Given the description of an element on the screen output the (x, y) to click on. 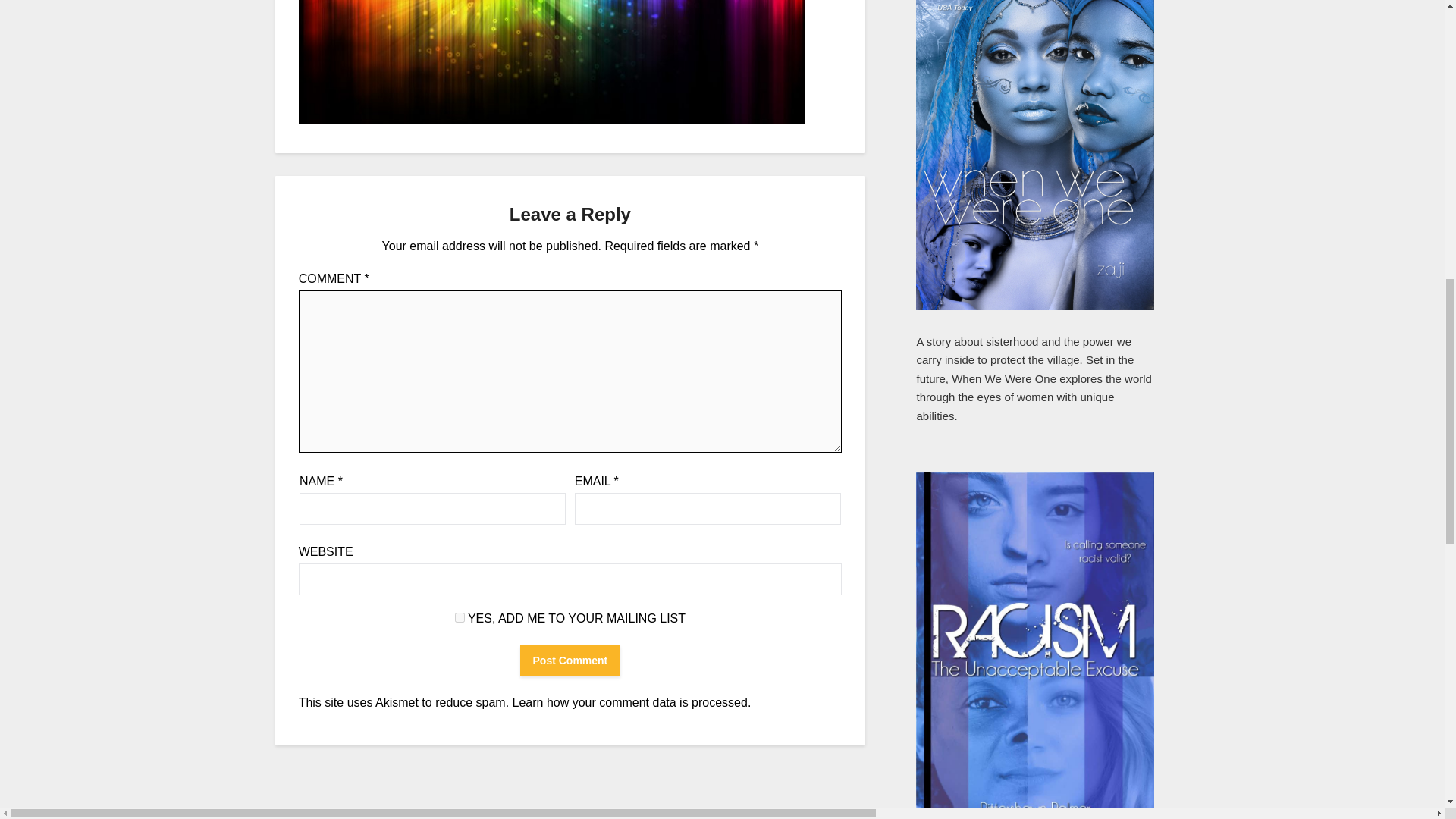
Learn how your comment data is processed (630, 702)
Post Comment (570, 660)
1 (459, 617)
Post Comment (570, 660)
